Given the description of an element on the screen output the (x, y) to click on. 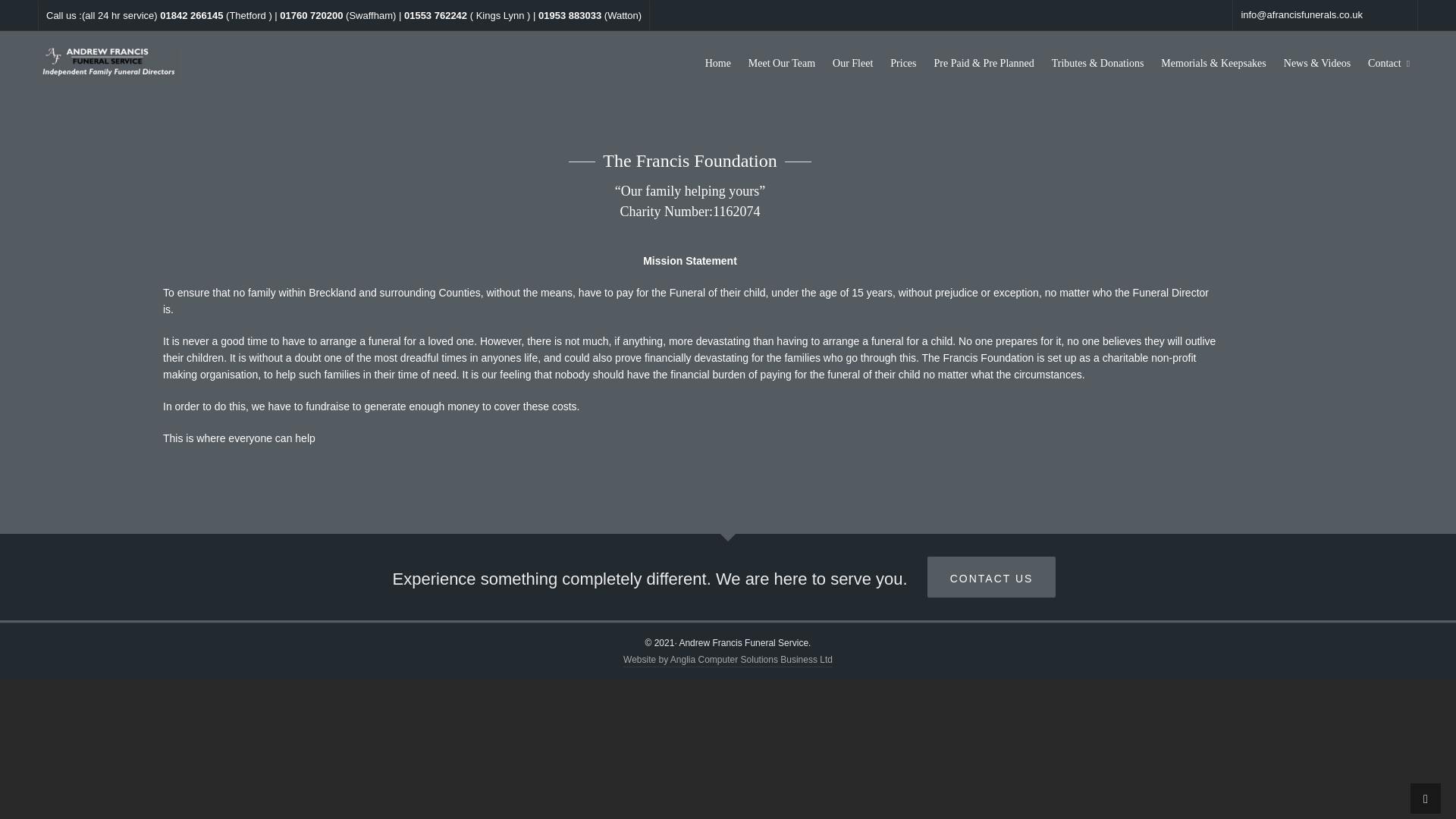
Website by Anglia Computer Solutions Business Ltd (727, 660)
Contact (1388, 61)
CONTACT US (992, 576)
Meet Our Team (781, 61)
Our Fleet (852, 61)
